Given the description of an element on the screen output the (x, y) to click on. 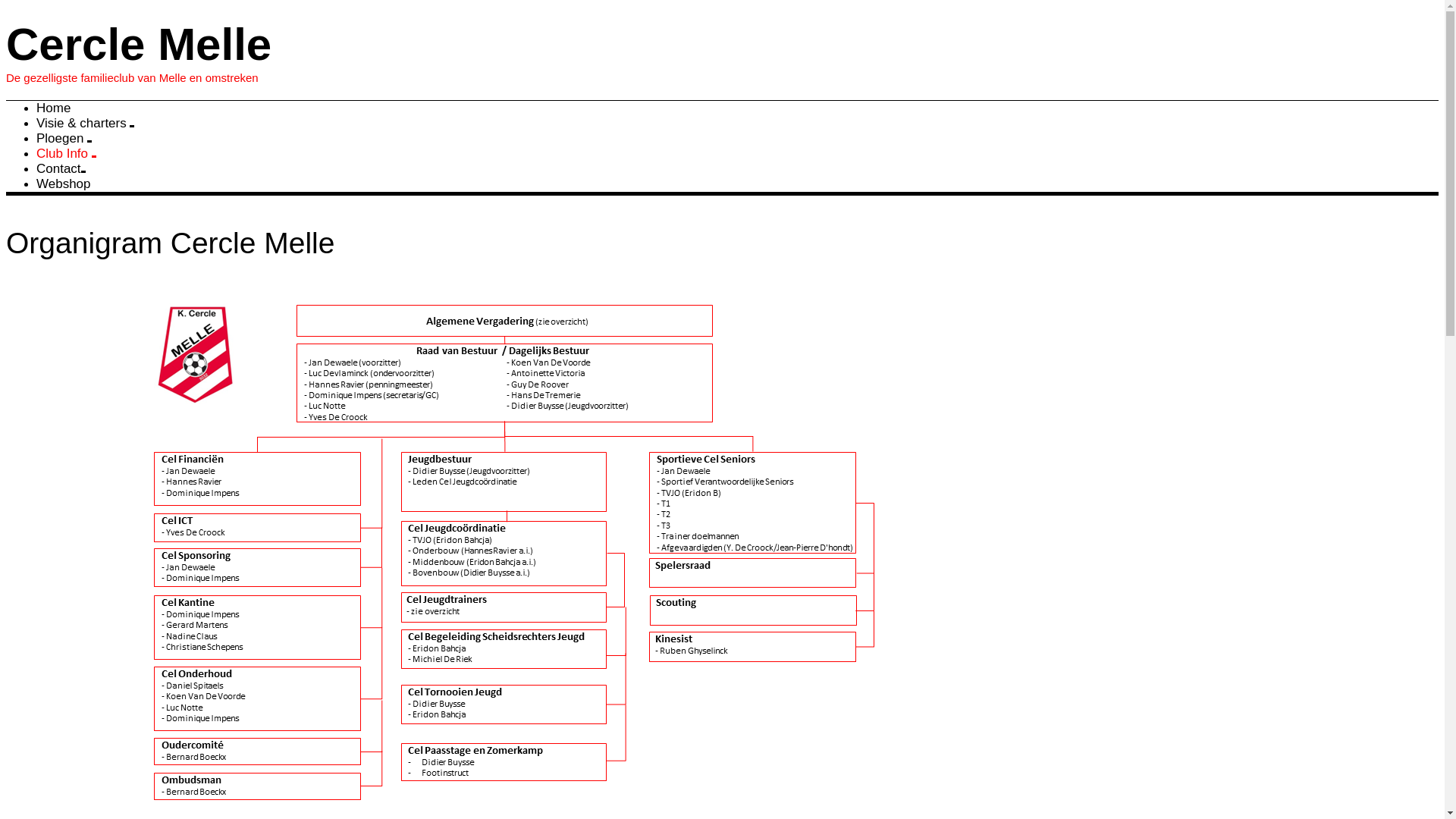
Contact Element type: text (60, 168)
Organigram Cercle Melle Element type: text (170, 242)
Home Element type: text (53, 107)
Cercle Melle Element type: text (138, 44)
Ploegen Element type: text (63, 138)
Webshop Element type: text (63, 183)
Visie & charters Element type: text (85, 123)
Club Info Element type: text (66, 153)
